Given the description of an element on the screen output the (x, y) to click on. 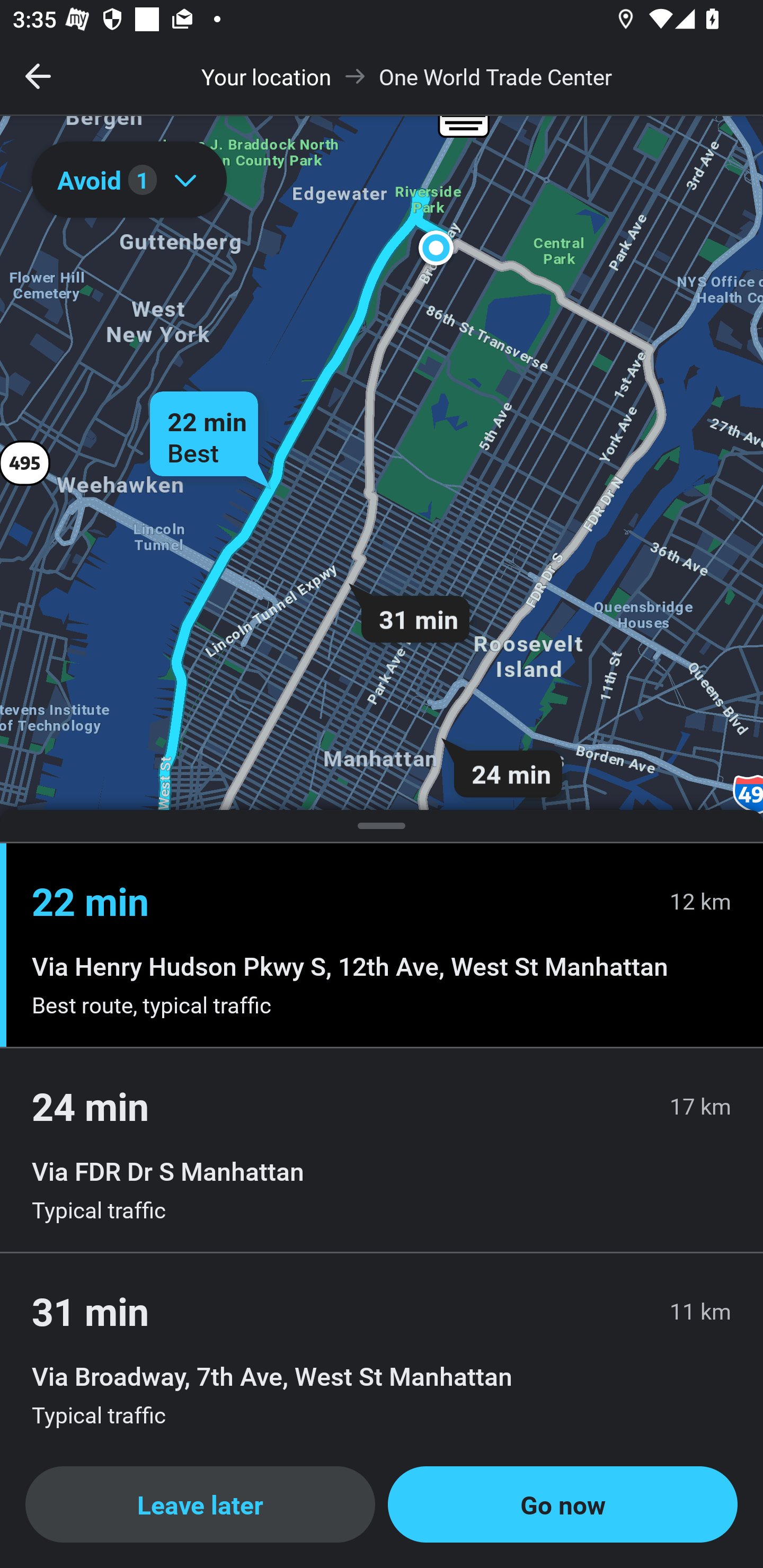
Leave later (200, 1504)
Go now (562, 1504)
